Given the description of an element on the screen output the (x, y) to click on. 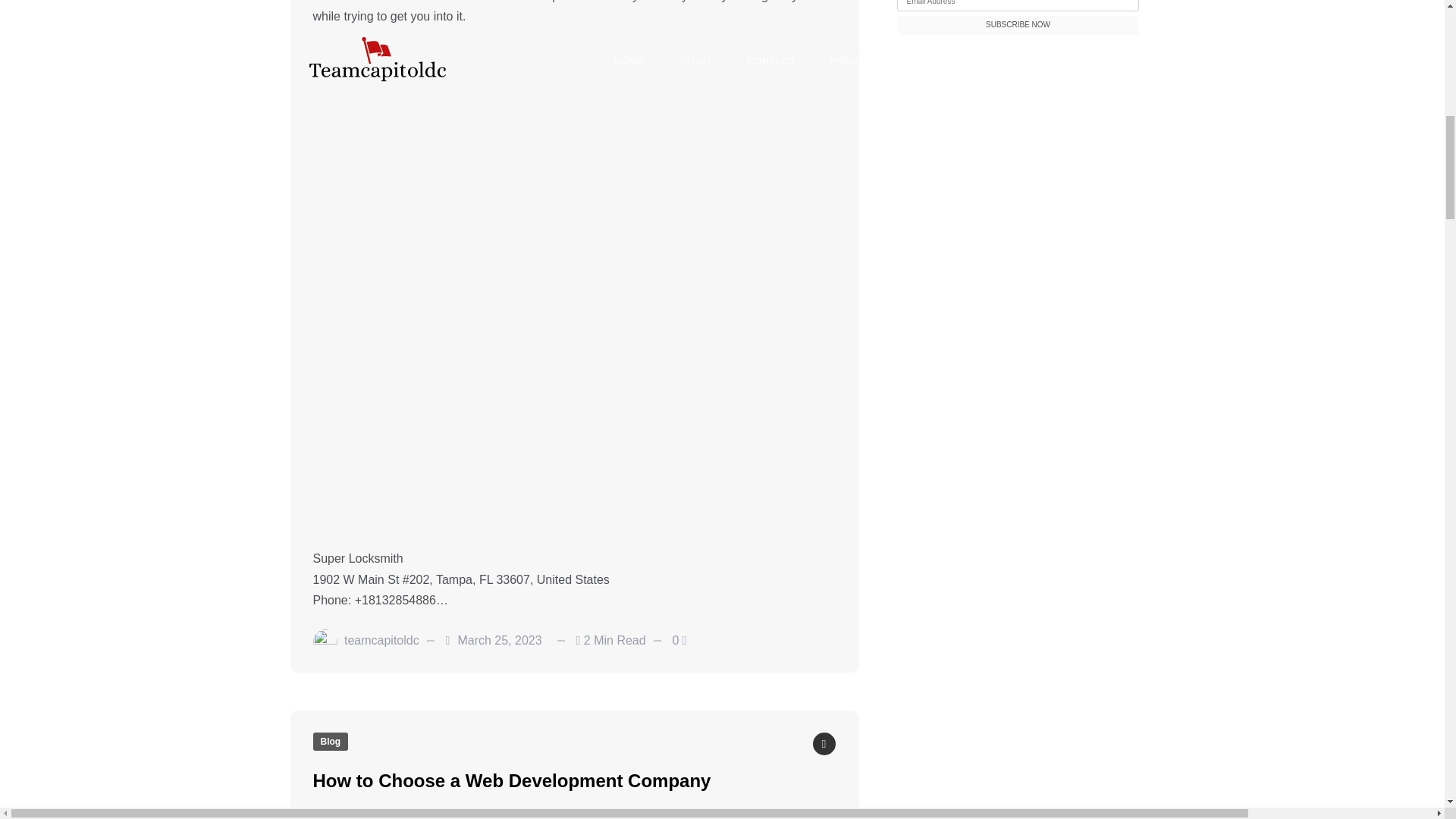
SUBSCRIBE NOW (1017, 25)
Web development company liverpool (412, 815)
teamcapitoldc (381, 640)
How to Choose a Web Development Company (511, 780)
Blog (330, 741)
March 25, 2023 (499, 640)
